Given the description of an element on the screen output the (x, y) to click on. 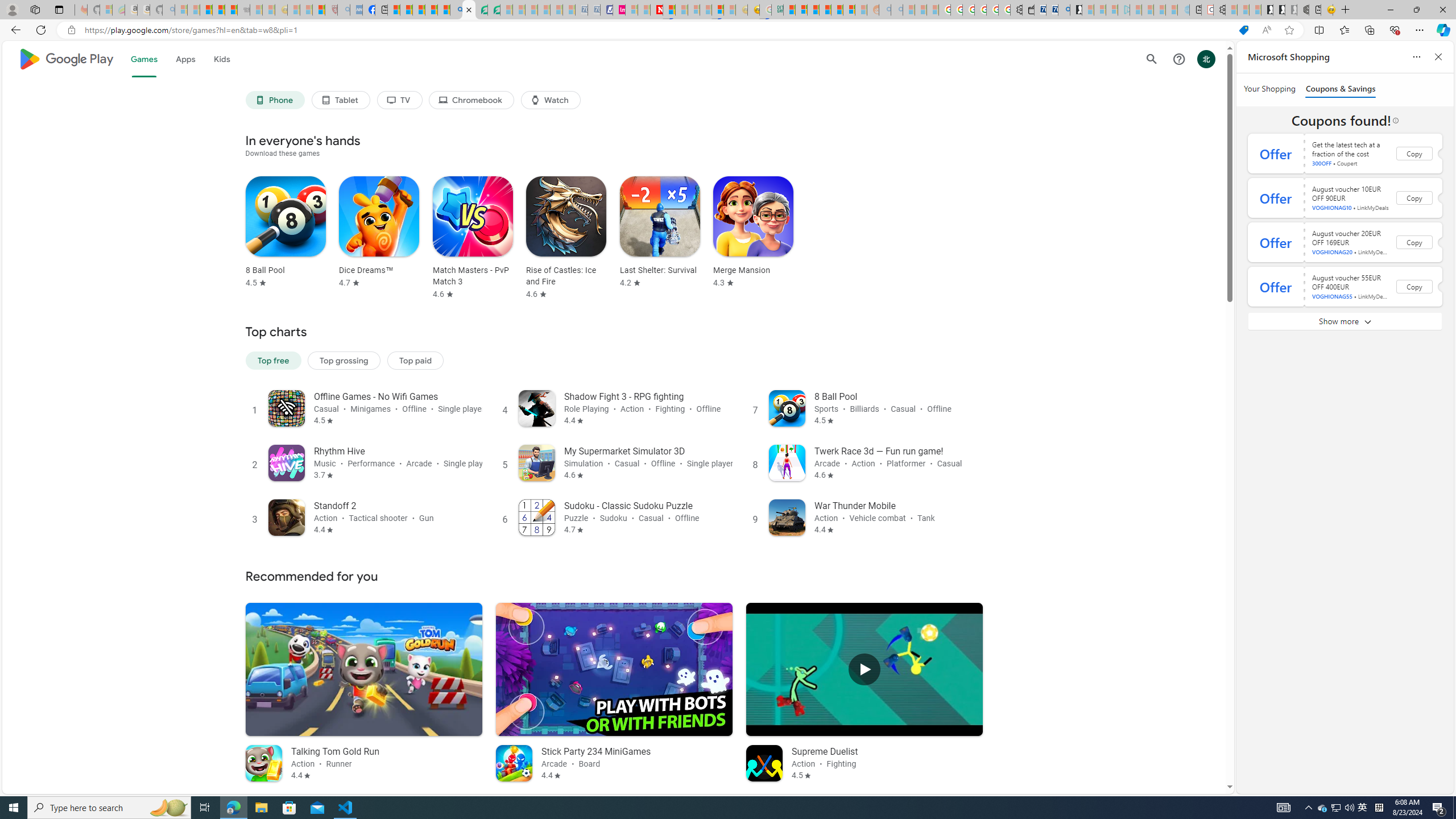
Trusted Community Engagement and Contributions | Guidelines (668, 9)
Jobs - lastminute.com Investor Portal (619, 9)
Watch (550, 99)
Microsoft Word - consumer-privacy address update 2.2021 (494, 9)
